Given the description of an element on the screen output the (x, y) to click on. 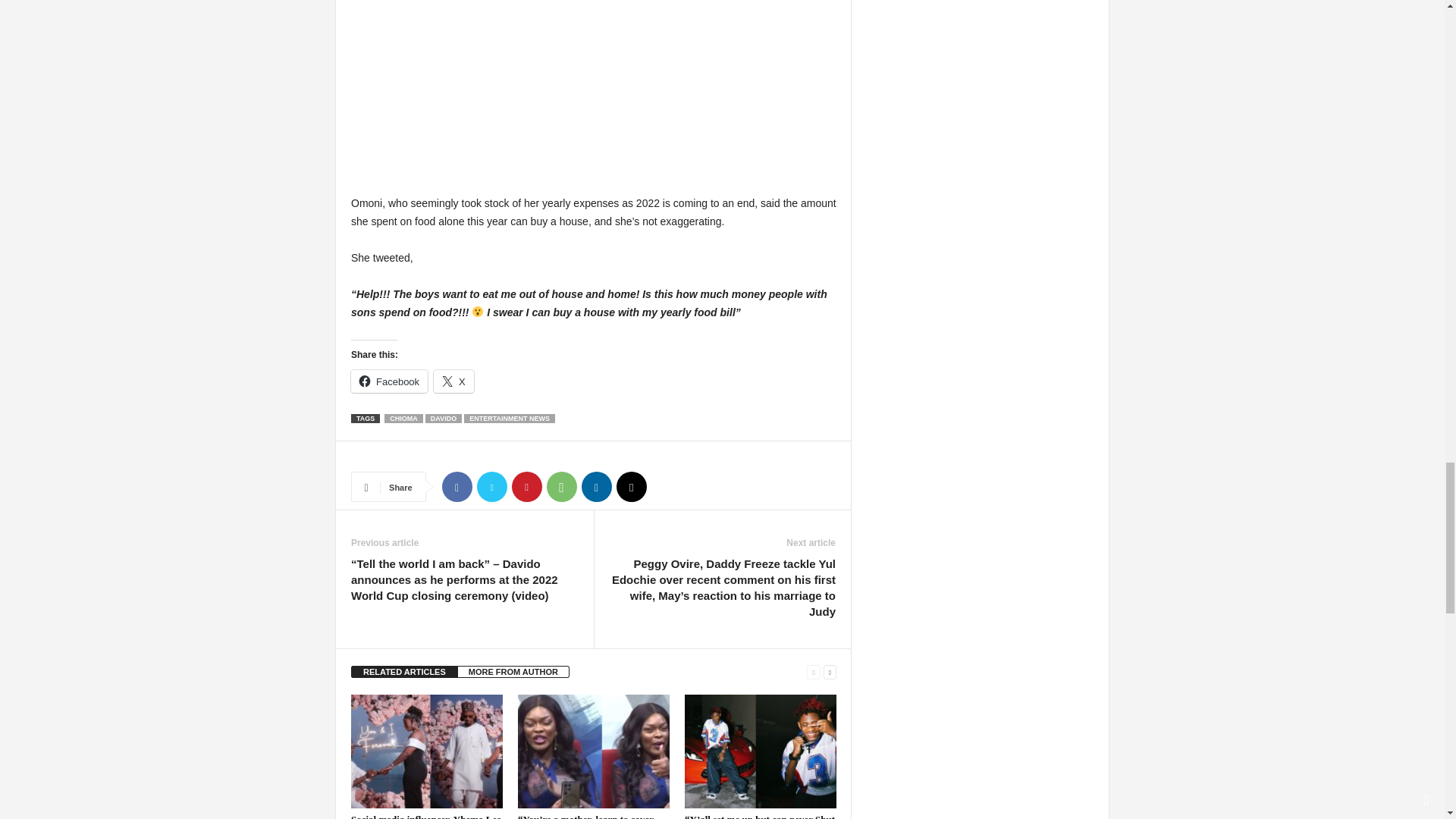
Advertisement (592, 97)
